Given the description of an element on the screen output the (x, y) to click on. 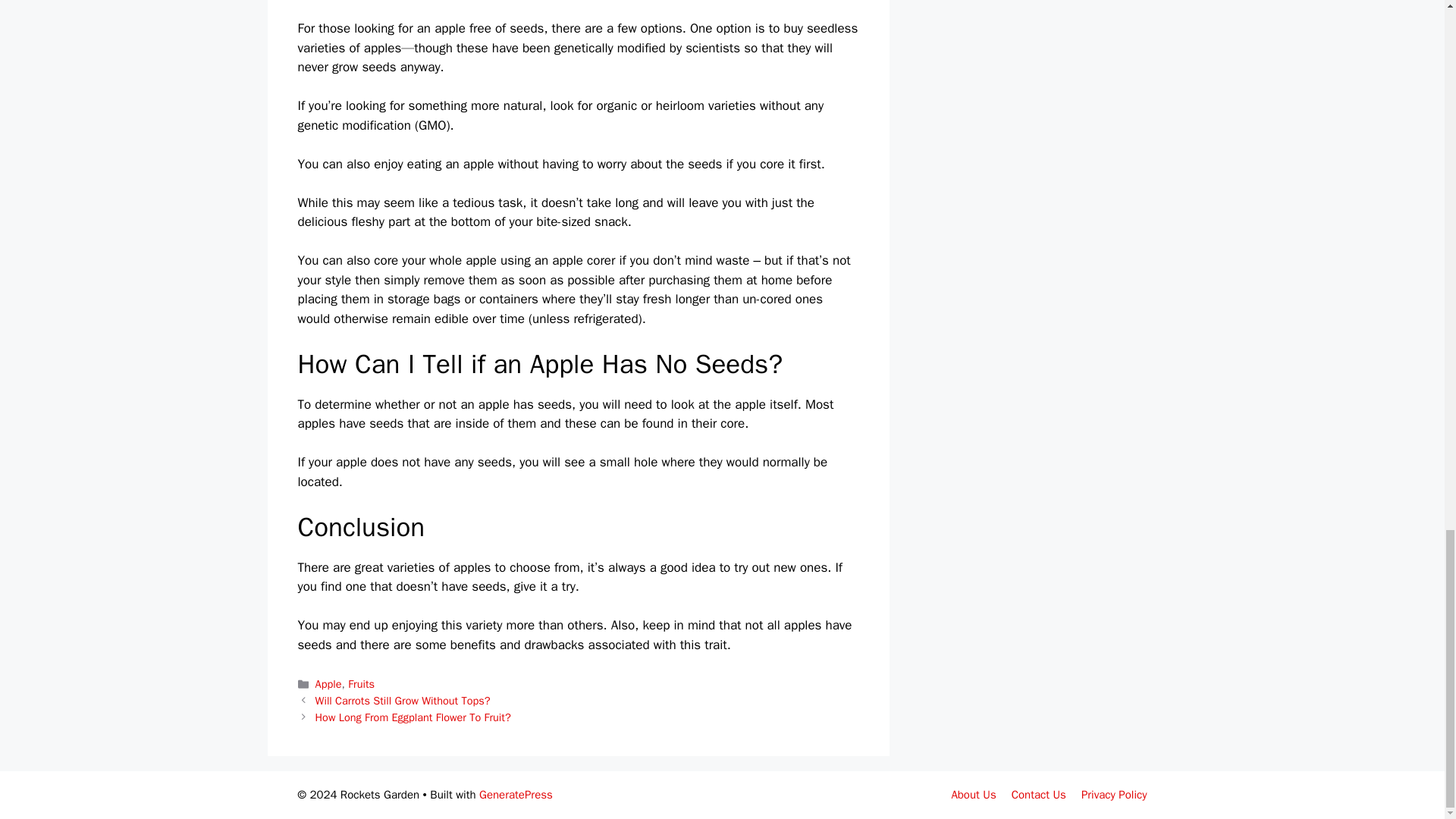
Will Carrots Still Grow Without Tops? (402, 700)
Fruits (360, 684)
GeneratePress (516, 794)
Privacy Policy (1114, 794)
Apple (328, 684)
About Us (972, 794)
How Long From Eggplant Flower To Fruit? (413, 716)
Contact Us (1038, 794)
